Given the description of an element on the screen output the (x, y) to click on. 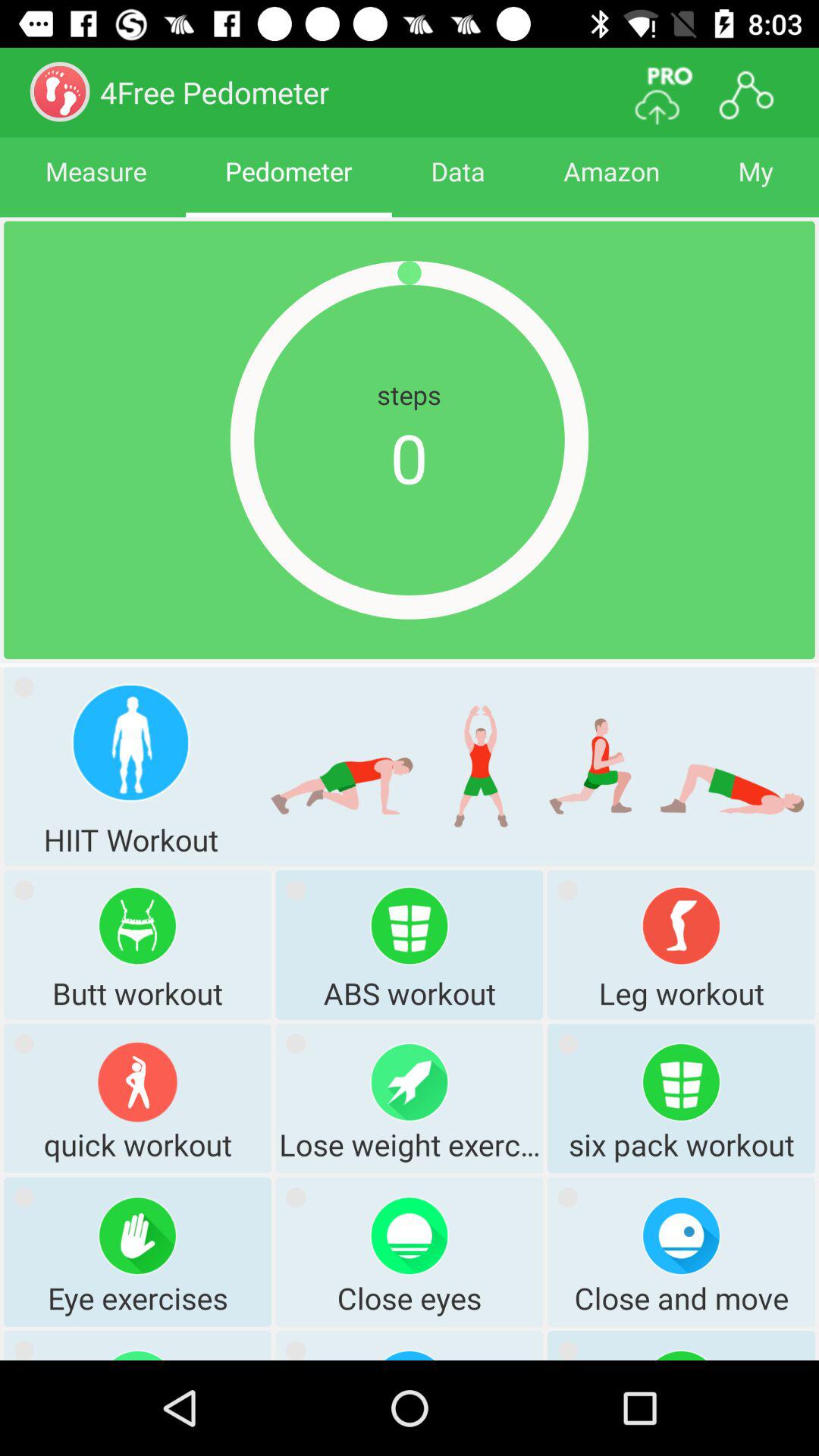
swipe to my icon (755, 185)
